Given the description of an element on the screen output the (x, y) to click on. 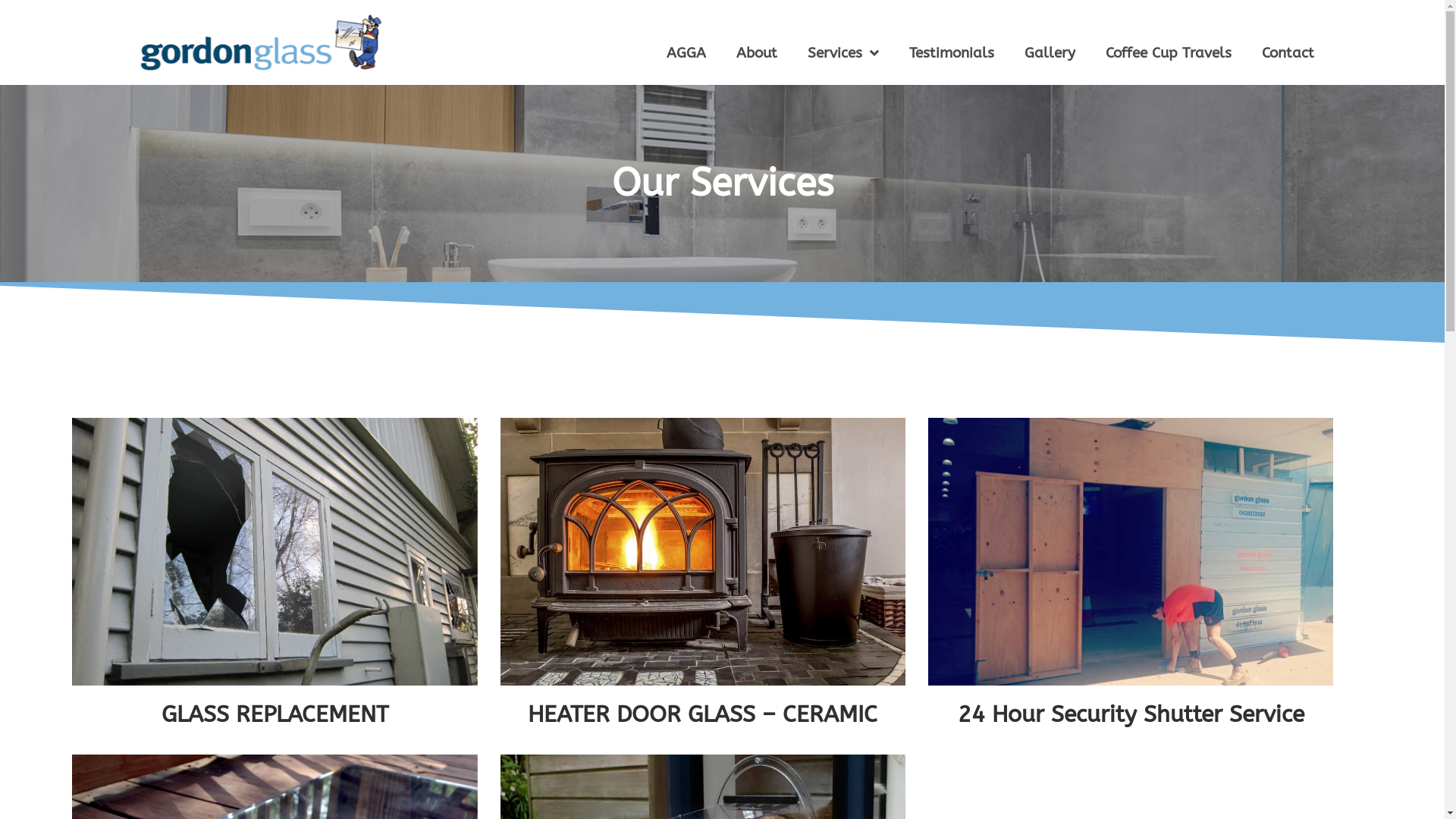
24 Hour Security Shutter Service Element type: text (1130, 714)
Contact Element type: text (1287, 52)
Services Element type: text (842, 52)
Testimonials Element type: text (950, 52)
AGGA Element type: text (685, 52)
GLASS REPLACEMENT Element type: text (274, 714)
Gallery Element type: text (1048, 52)
Coffee Cup Travels Element type: text (1168, 52)
About Element type: text (755, 52)
